Given the description of an element on the screen output the (x, y) to click on. 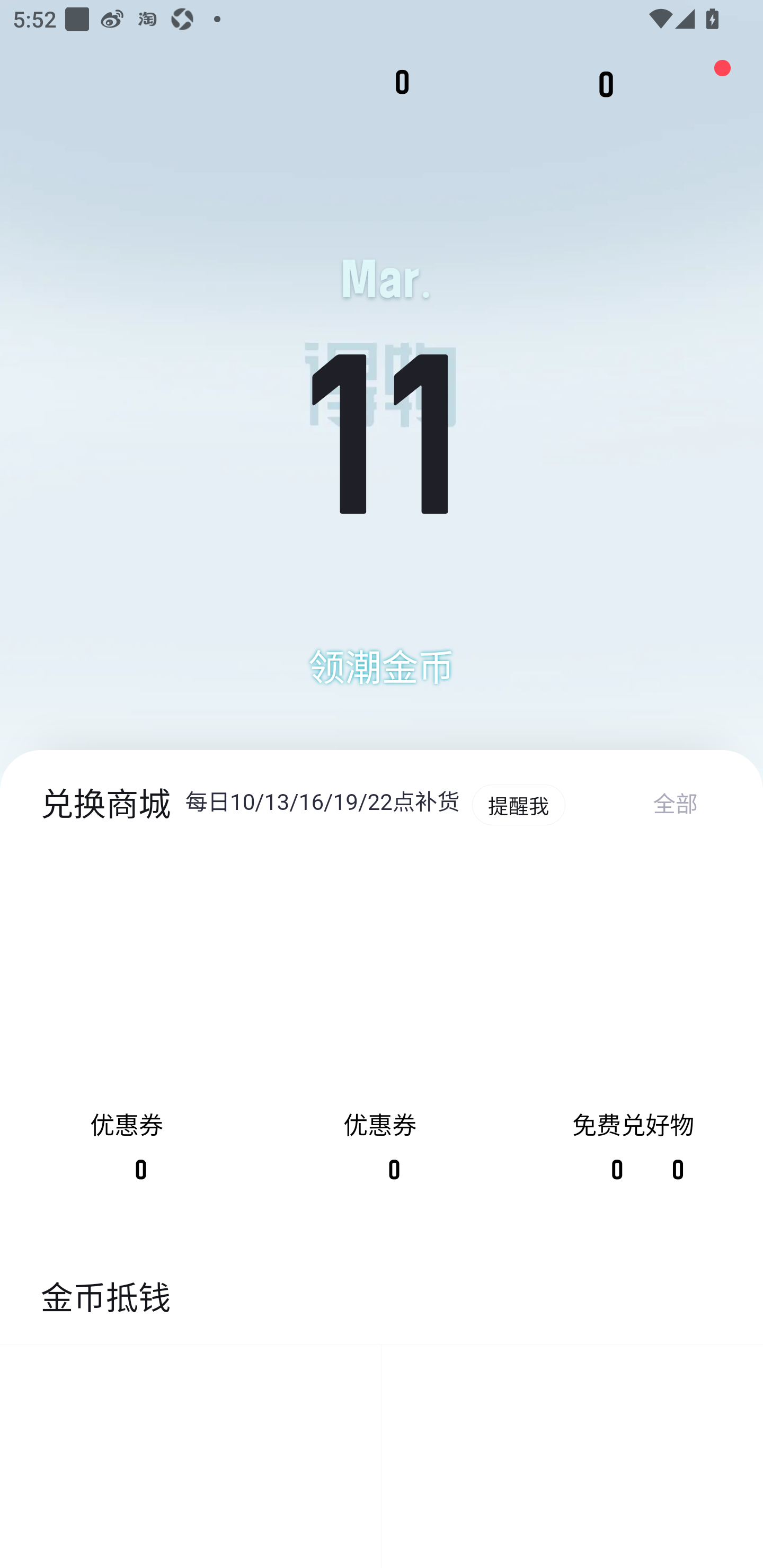
已连续签到0天 (387, 403)
领潮金币 (381, 668)
提醒我 (518, 805)
全部 (687, 804)
优惠券 0 (127, 1031)
优惠券 0 (379, 1031)
免费兑好物 0 0 (633, 1031)
